Given the description of an element on the screen output the (x, y) to click on. 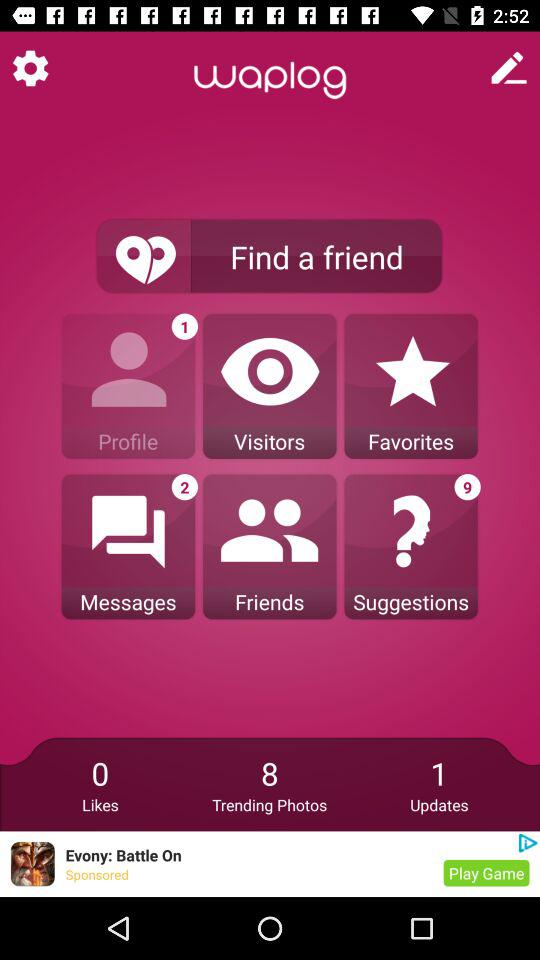
select friends (269, 547)
click on messages icon (128, 547)
select the text in the first line (269, 79)
click on suggestions button (411, 547)
select the button below the profile button  (128, 547)
select the  third option under find a friend (411, 386)
click on the option beside the profile option (269, 386)
select play game which is in the right corner of the screen (486, 873)
